Given the description of an element on the screen output the (x, y) to click on. 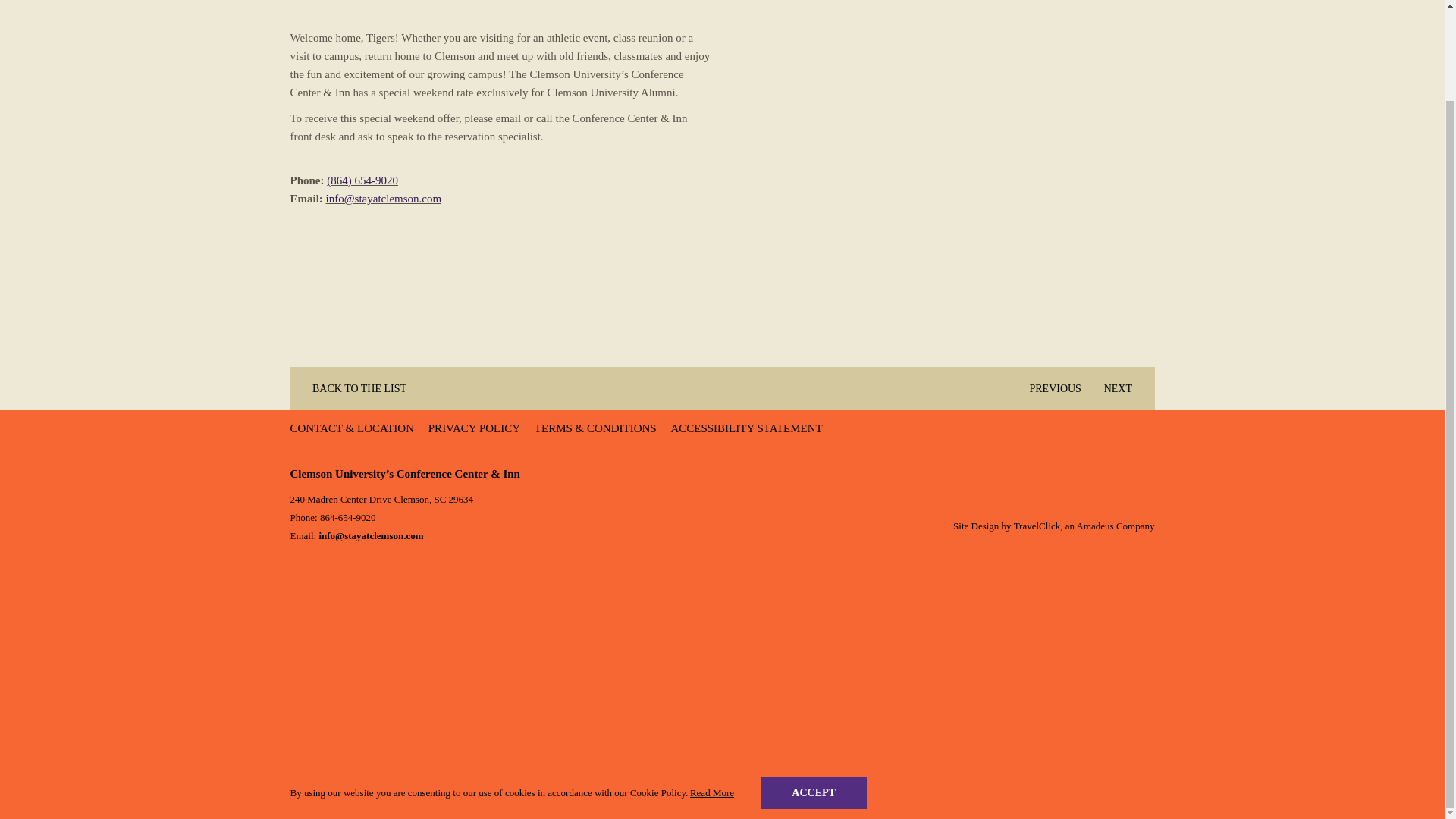
ACCESSIBILITY STATEMENT (747, 428)
BACK TO THE LIST (352, 388)
PRIVACY POLICY (476, 428)
NEXT (1124, 388)
PREVIOUS (1048, 388)
864-654-9020 (347, 517)
TravelClick (1037, 525)
ACCEPT (813, 688)
